Given the description of an element on the screen output the (x, y) to click on. 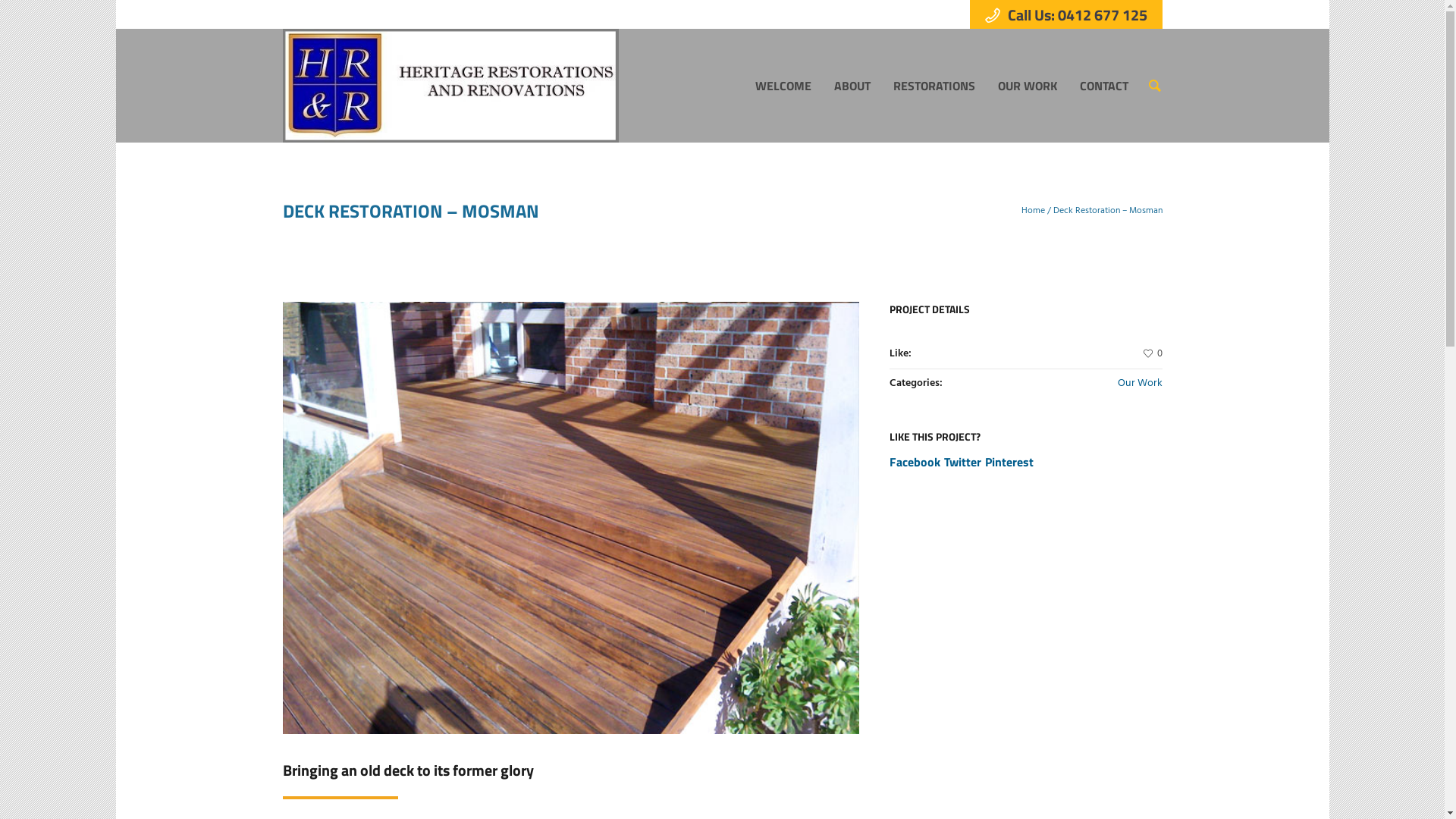
Our Work Element type: text (1139, 383)
Facebook Element type: text (914, 461)
WELCOME Element type: text (782, 85)
0 Element type: text (1152, 353)
RESTORATIONS Element type: text (933, 85)
Home Element type: text (1032, 210)
OUR WORK Element type: text (1026, 85)
Pinterest Element type: text (1009, 461)
CONTACT Element type: text (1103, 85)
Twitter Element type: text (962, 461)
ABOUT Element type: text (851, 85)
